Given the description of an element on the screen output the (x, y) to click on. 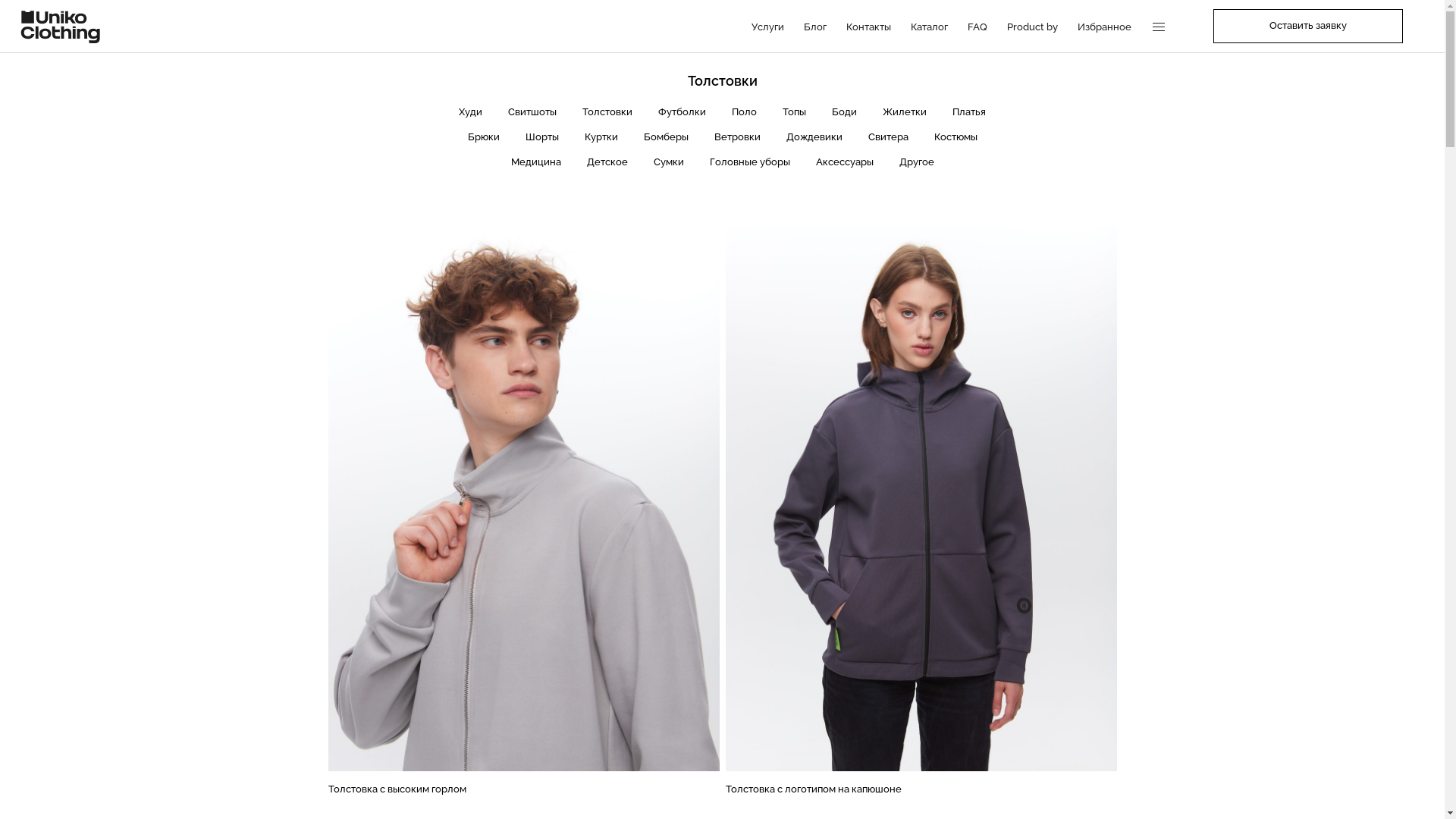
FAQ Element type: text (977, 26)
Product by Element type: text (1032, 26)
